Given the description of an element on the screen output the (x, y) to click on. 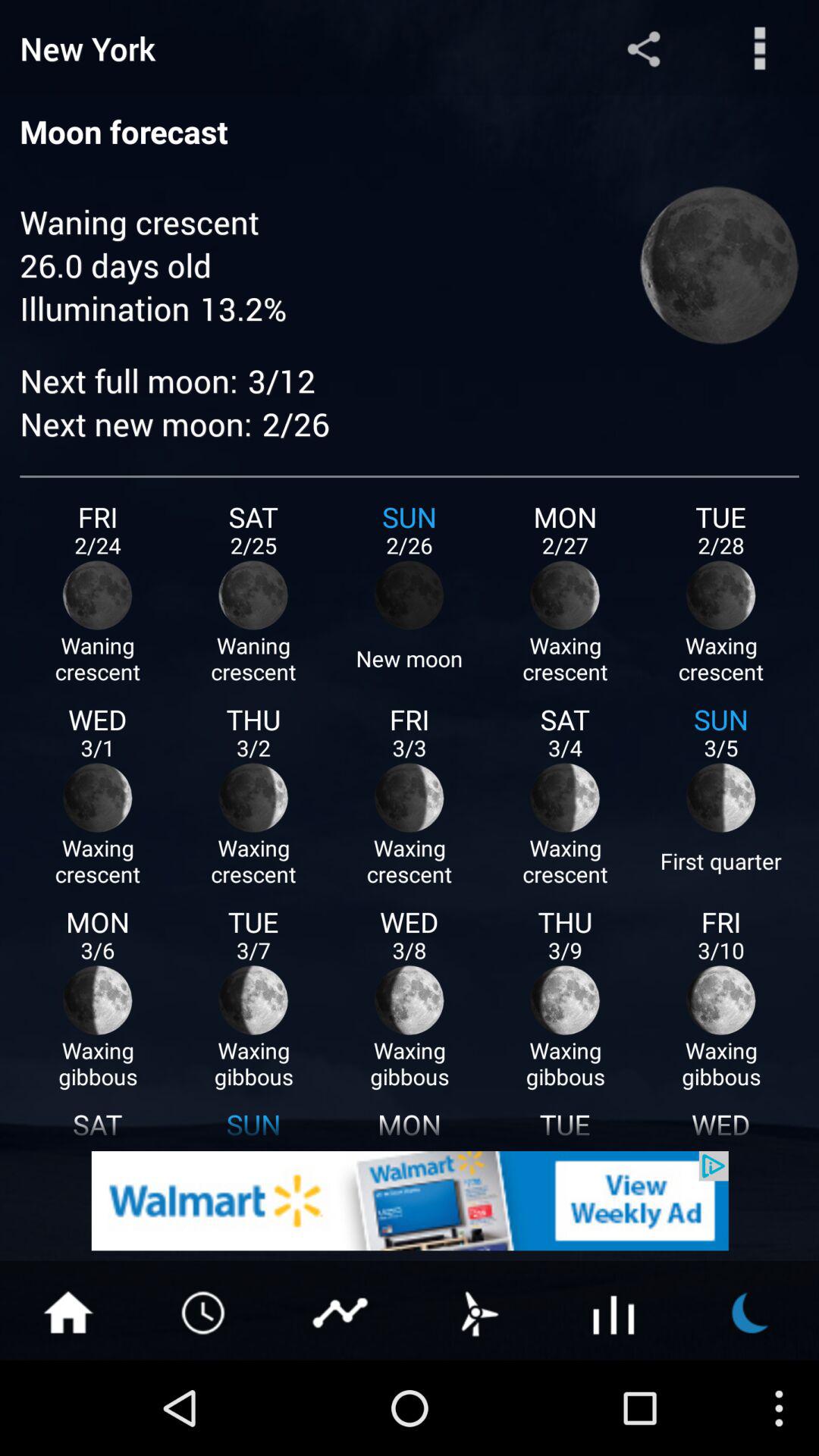
click the advertisement (409, 1200)
